Given the description of an element on the screen output the (x, y) to click on. 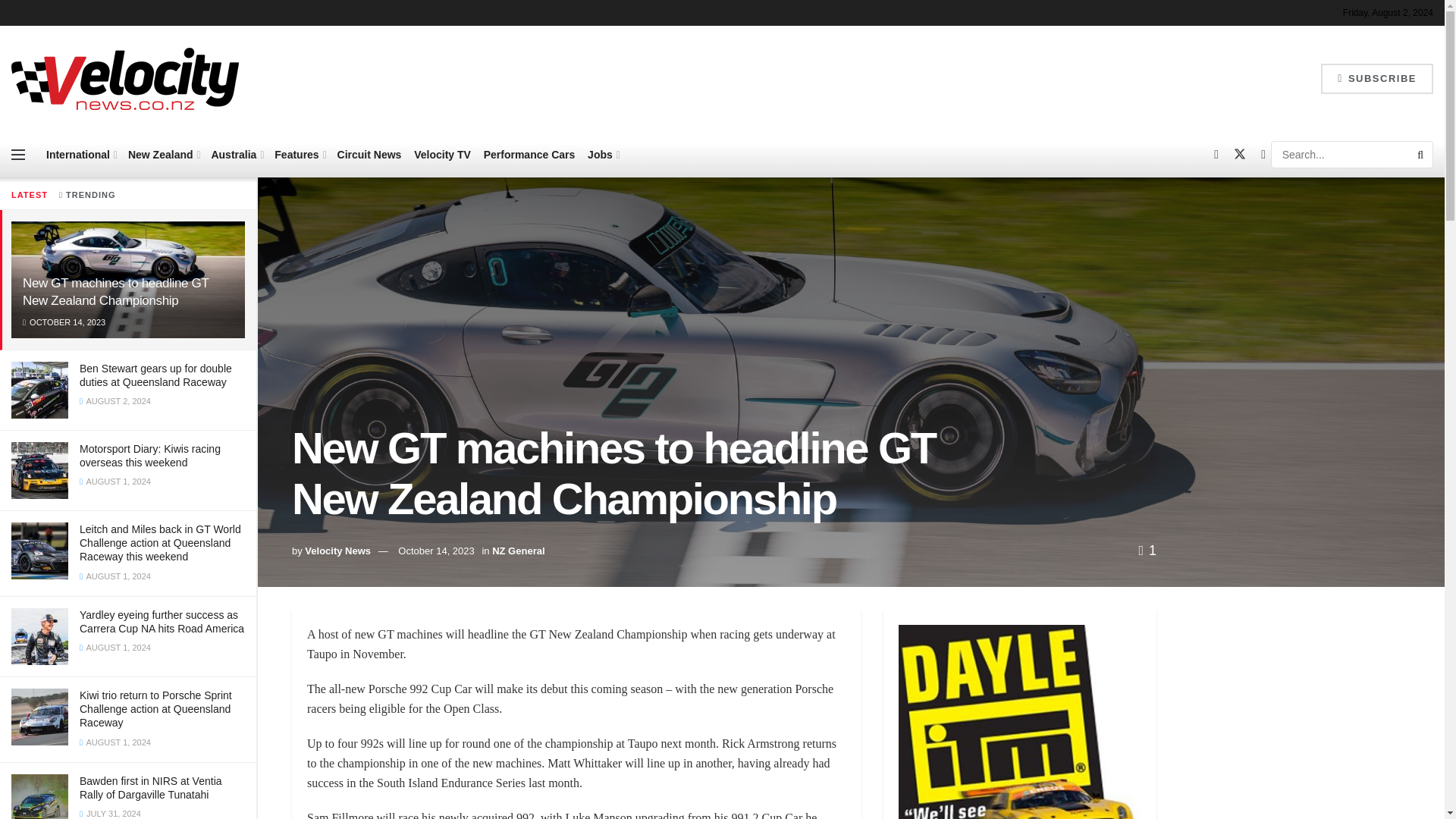
New GT machines to headline GT New Zealand Championship (115, 291)
International (80, 154)
Bawden first in NIRS at Ventia Rally of Dargaville Tunatahi (151, 787)
SUBSCRIBE (1376, 78)
Motorsport Diary: Kiwis racing overseas this weekend (150, 455)
Ben Stewart gears up for double duties at Queensland Raceway (155, 375)
